Given the description of an element on the screen output the (x, y) to click on. 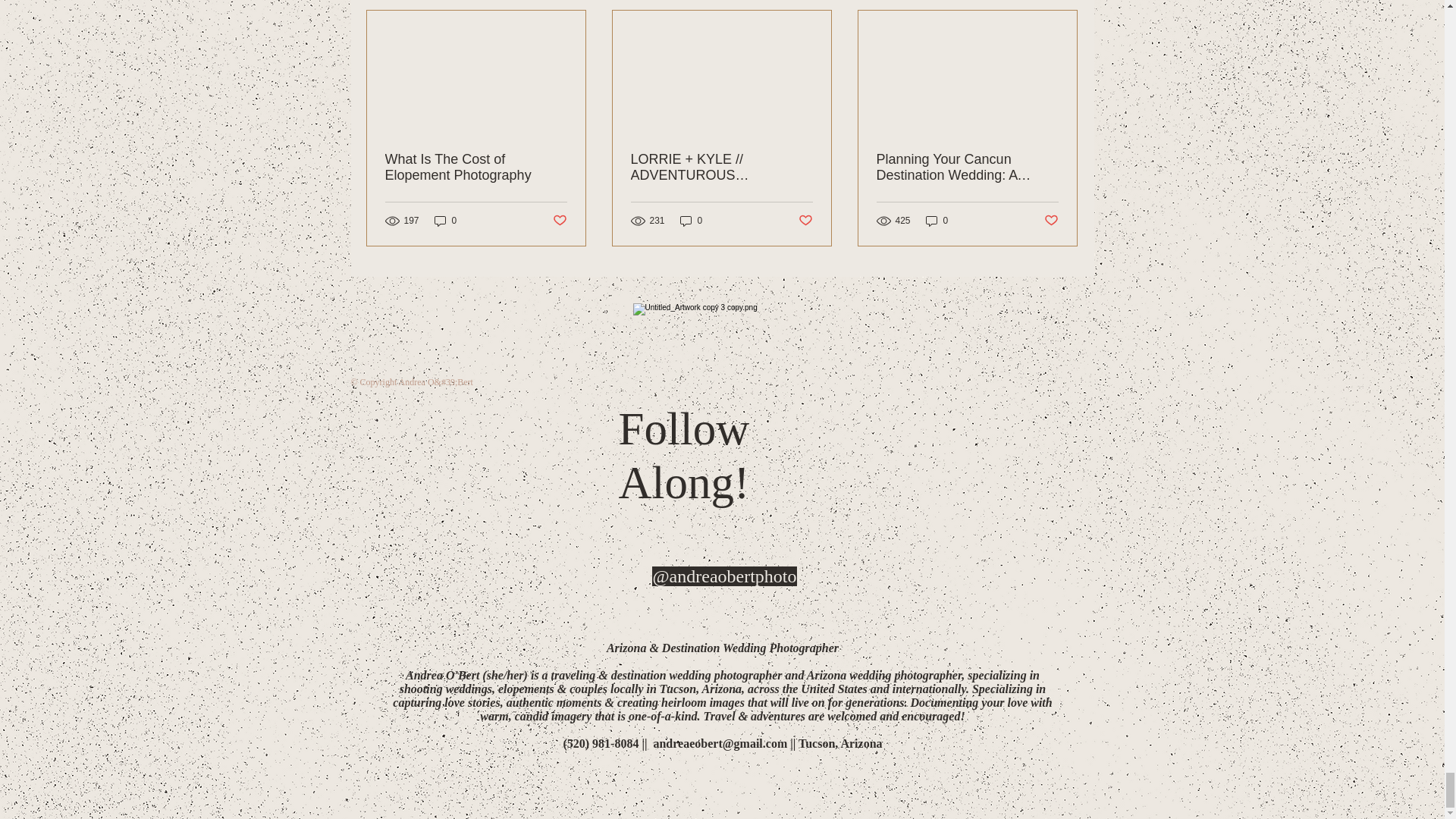
Planning Your Cancun Destination Wedding: A Complete Guide (967, 167)
Post not marked as liked (1050, 220)
Post not marked as liked (558, 220)
0 (445, 220)
What Is The Cost of Elopement Photography (476, 167)
0 (691, 220)
Post not marked as liked (804, 220)
0 (937, 220)
